Given the description of an element on the screen output the (x, y) to click on. 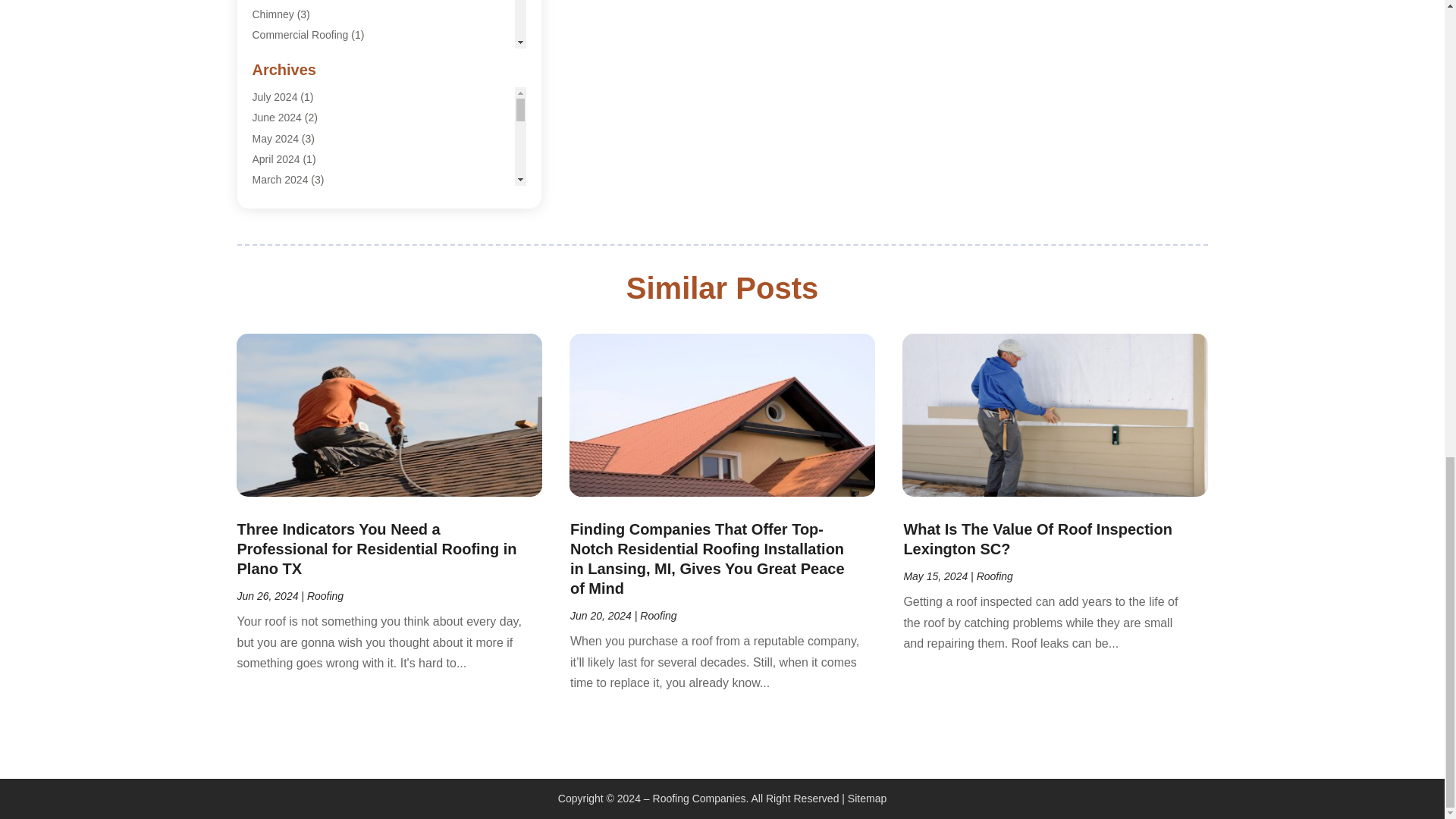
Gutter Repair (283, 261)
Fence (266, 199)
Deck Builder (281, 158)
Pool Cleaning Service (303, 344)
Garages (271, 220)
Custom Home Builder (303, 137)
Copper Roof (281, 117)
Commercial Roofing (299, 34)
Home Improvement (298, 302)
Contractors (278, 96)
Railing Contractor (293, 364)
Home Inspection (291, 323)
Construction And Maintenance (323, 75)
Hardwood Flooring (295, 282)
Construction (281, 55)
